Given the description of an element on the screen output the (x, y) to click on. 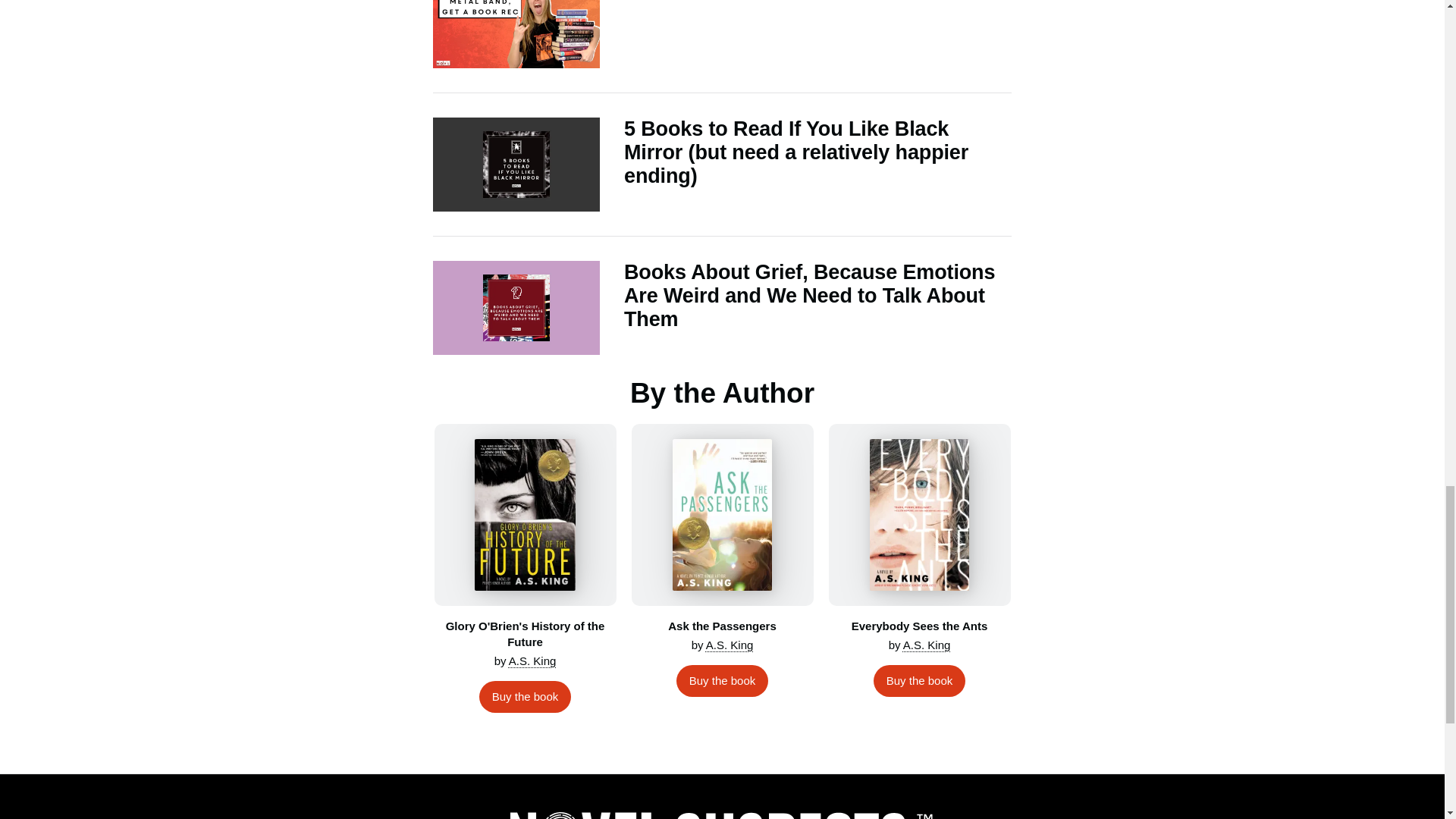
A.S. King (730, 644)
Glory O'Brien's History of the Future (524, 515)
Buy the book (525, 696)
A.S. King (532, 660)
Ask the Passengers (721, 515)
Buy the book (722, 680)
Everybody Sees the Ants (919, 515)
Choose a Metal Band, Get a Book Rec (721, 34)
